Given the description of an element on the screen output the (x, y) to click on. 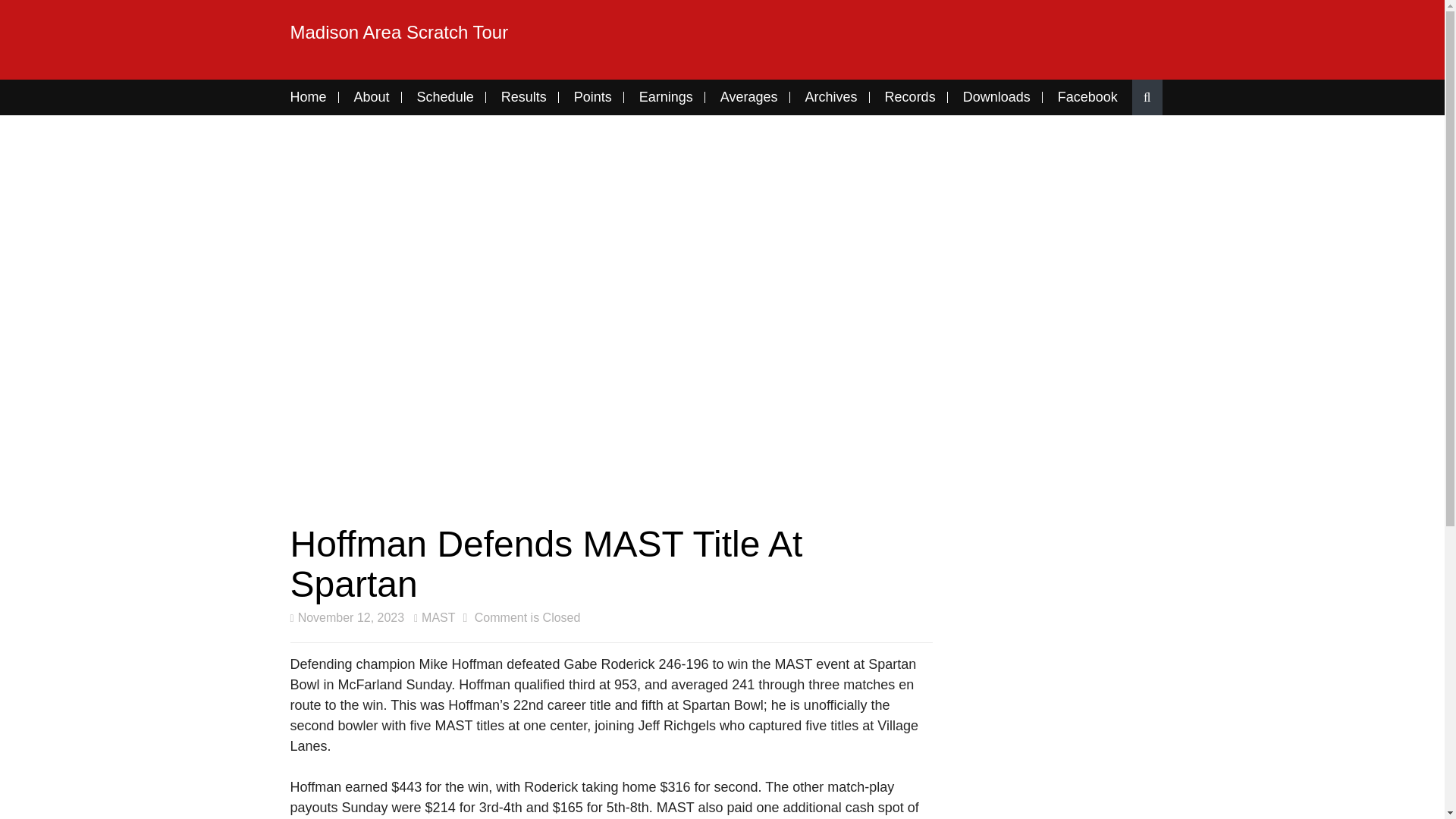
Archives (831, 97)
Downloads (997, 97)
November 12, 2023 (346, 617)
MAST (434, 617)
Home (313, 97)
Facebook (1087, 97)
Earnings (665, 97)
Schedule (446, 97)
Points (593, 97)
Results (524, 97)
